Given the description of an element on the screen output the (x, y) to click on. 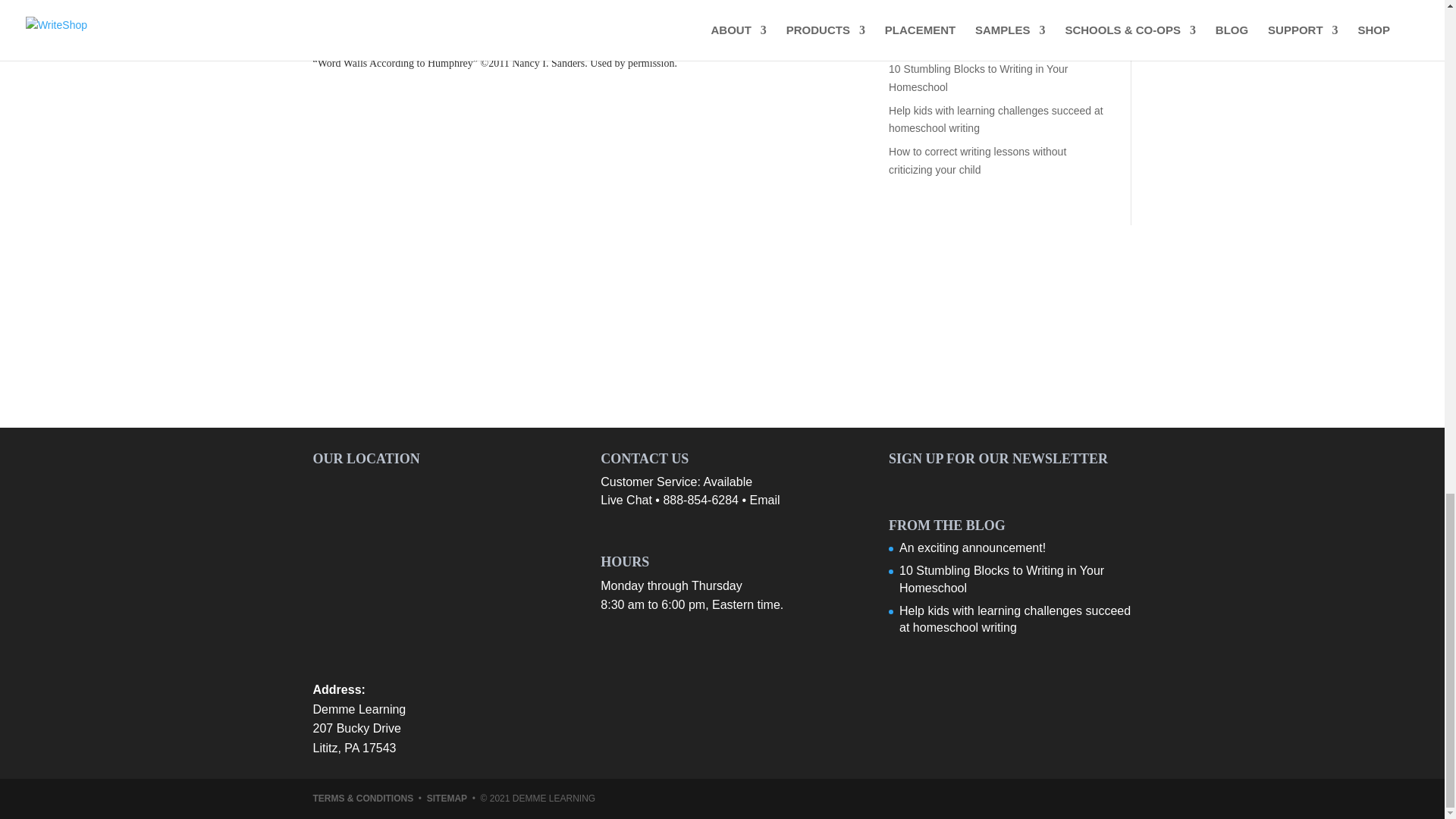
WriteShop Primary (357, 30)
